Given the description of an element on the screen output the (x, y) to click on. 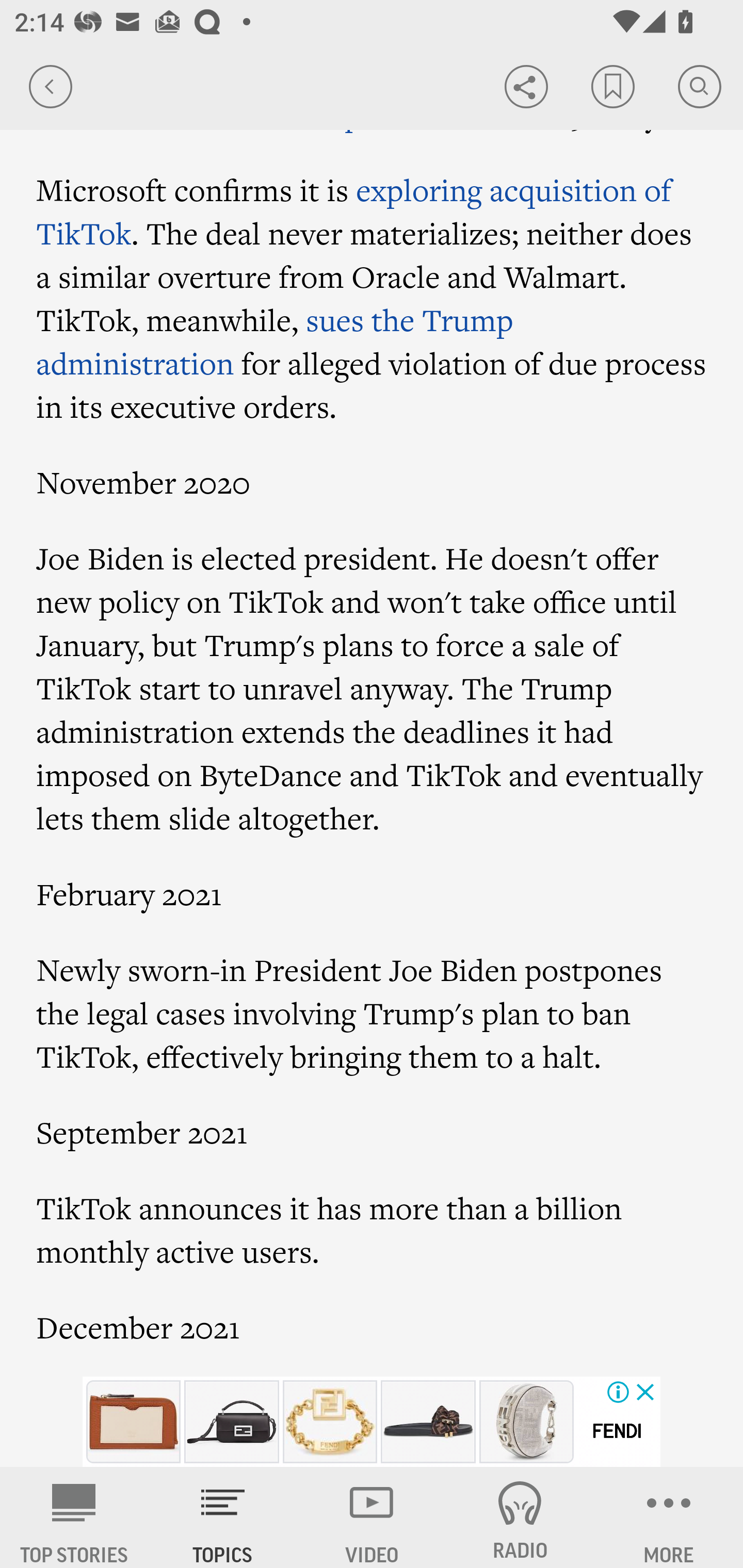
exploring acquisition of TikTok (353, 210)
sues the Trump administration (275, 340)
fendi-feel-brown-satin-slides-8x8142ae7sf0r7v (428, 1420)
AP News TOP STORIES (74, 1517)
TOPICS (222, 1517)
VIDEO (371, 1517)
RADIO (519, 1517)
MORE (668, 1517)
